Given the description of an element on the screen output the (x, y) to click on. 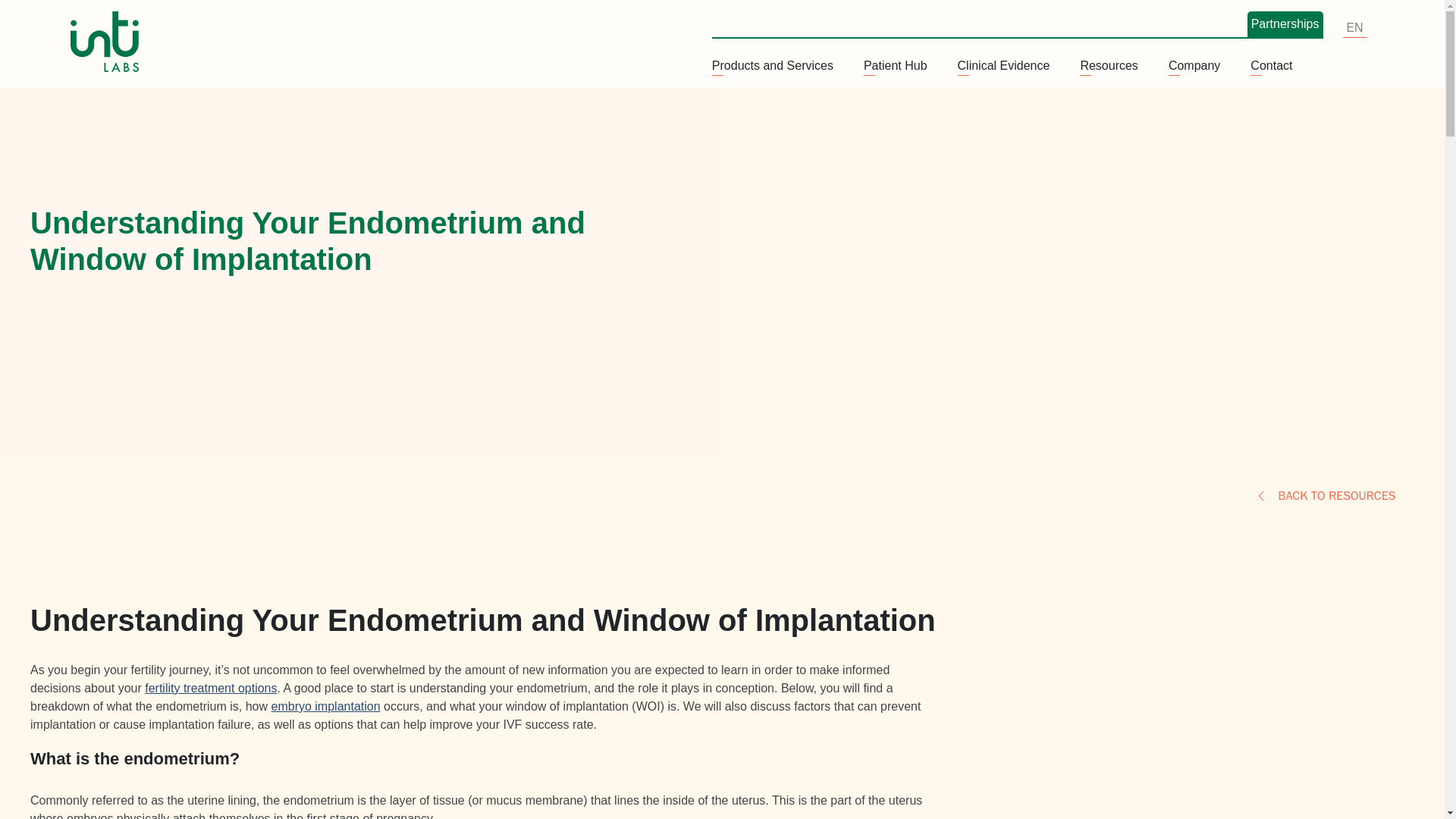
Products and Services (771, 66)
Patient Hub (895, 66)
Company (1194, 66)
BACK TO RESOURCES (1325, 495)
Clinical Evidence (1003, 66)
Partnerships (1285, 23)
fertility treatment options (210, 687)
Resources (1108, 66)
embryo implantation (325, 706)
Contact (1271, 66)
